Given the description of an element on the screen output the (x, y) to click on. 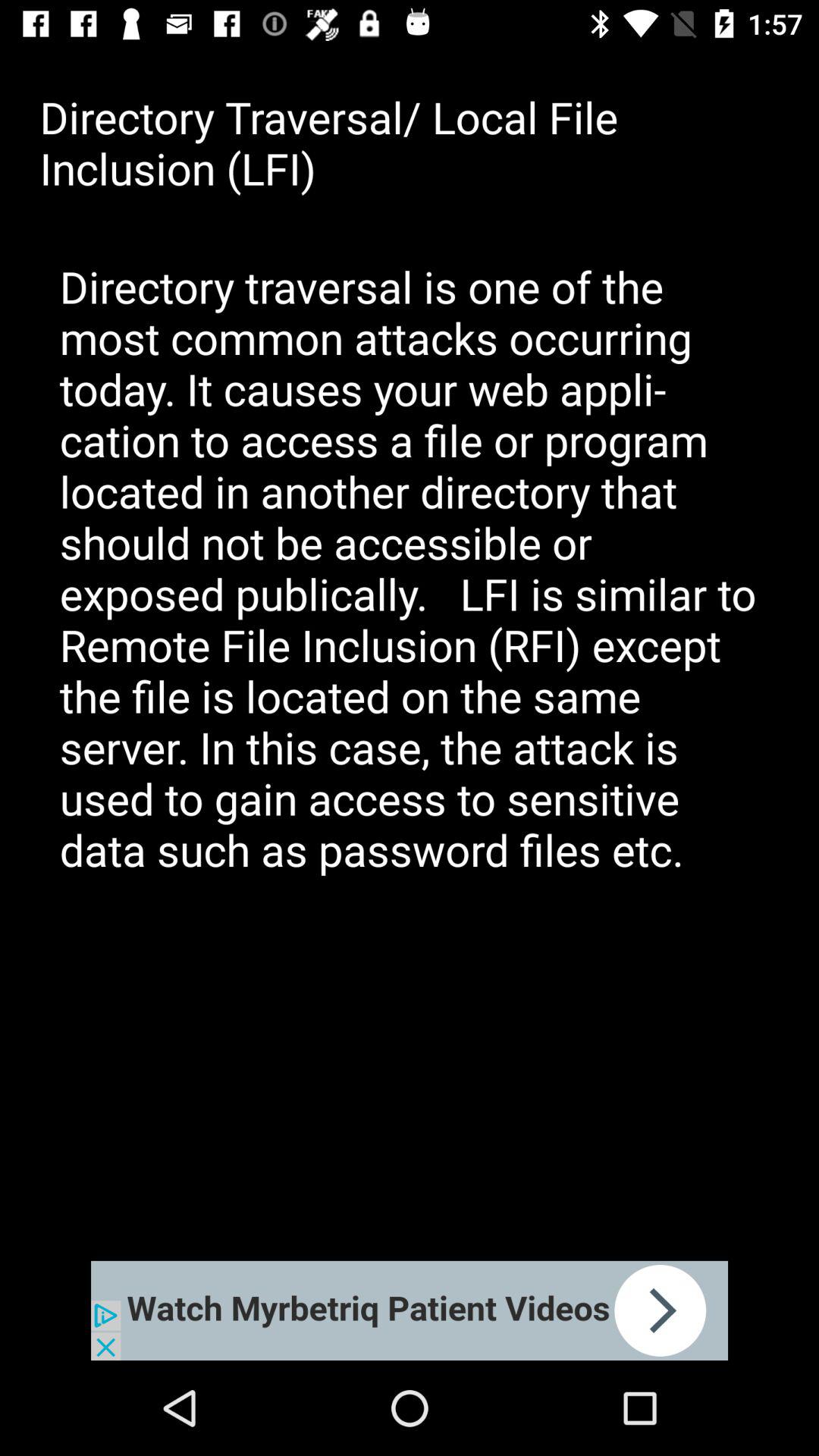
advertisement (409, 1310)
